Given the description of an element on the screen output the (x, y) to click on. 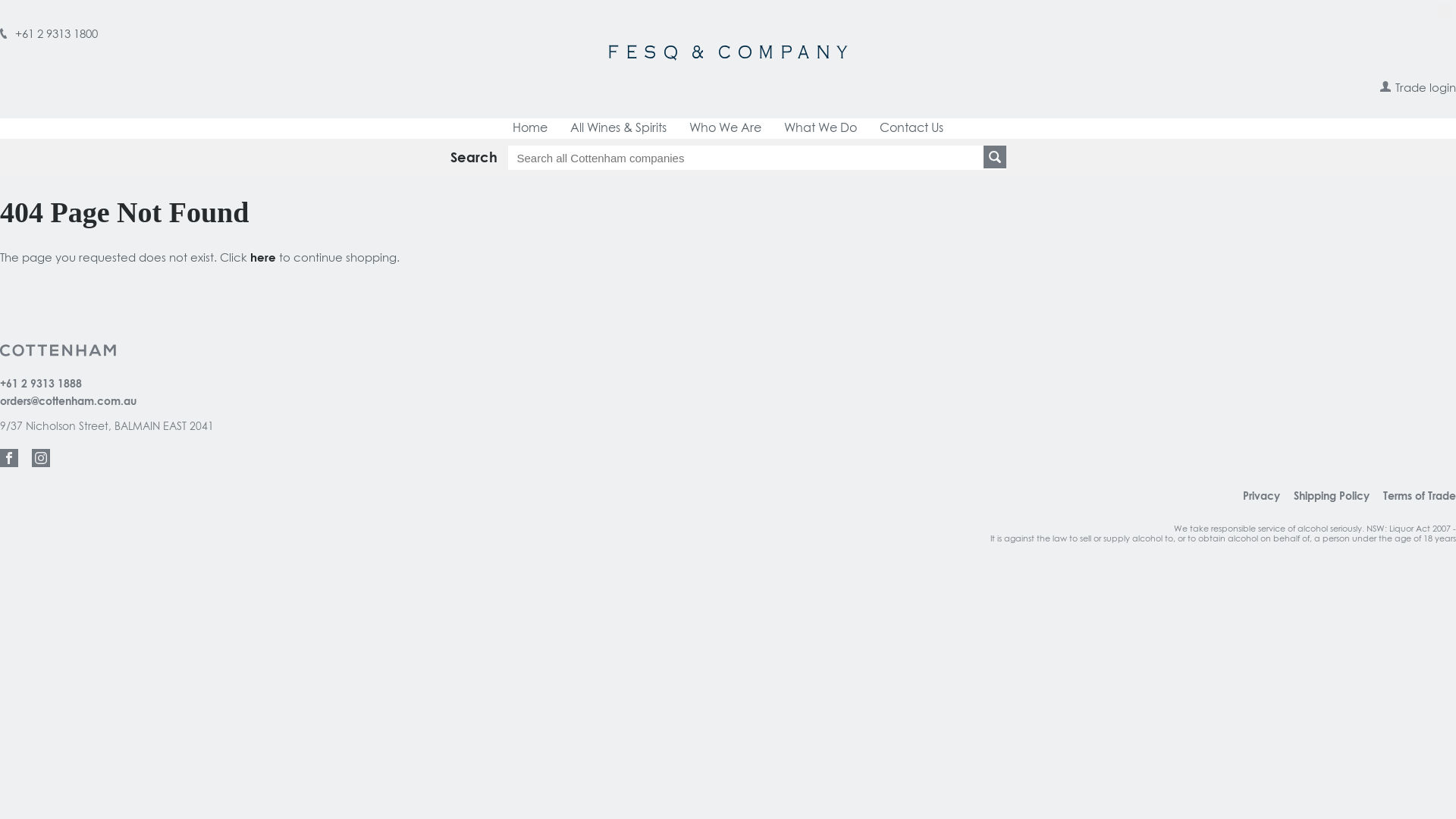
Cottenham on Facebook Element type: hover (9, 457)
Home Element type: text (529, 129)
Privacy Element type: text (1261, 496)
What We Do Element type: text (820, 129)
here Element type: text (263, 257)
Shipping Policy Element type: text (1331, 496)
All Wines & Spirits Element type: text (618, 129)
Contact Us Element type: text (911, 129)
Who We Are Element type: text (725, 129)
orders@cottenham.com.au Element type: text (68, 401)
Cottenham on Instagram Element type: hover (40, 457)
+61 2 9313 1800 Element type: text (48, 34)
